Given the description of an element on the screen output the (x, y) to click on. 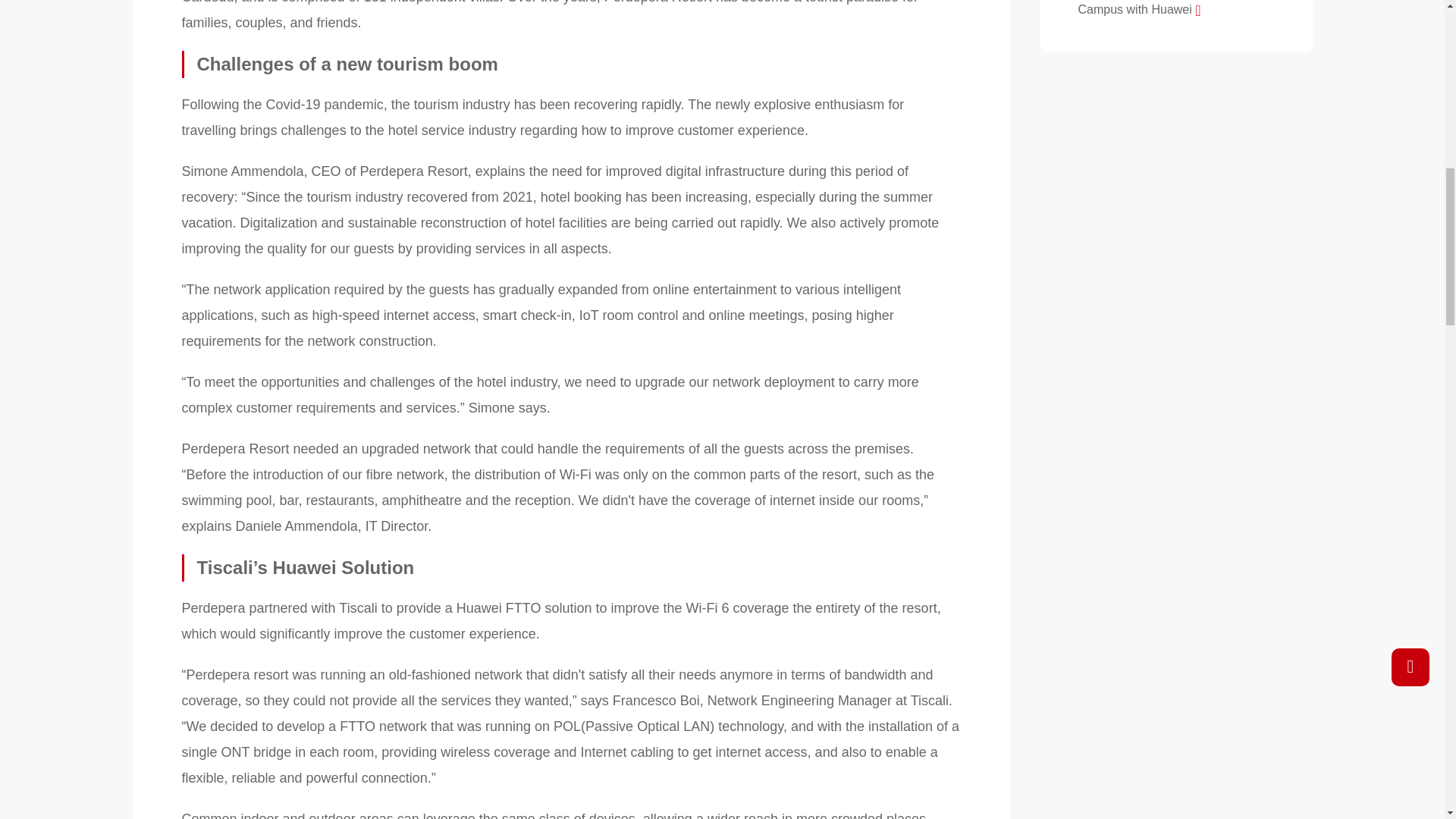
Challenges of a new tourism boom (571, 63)
